Given the description of an element on the screen output the (x, y) to click on. 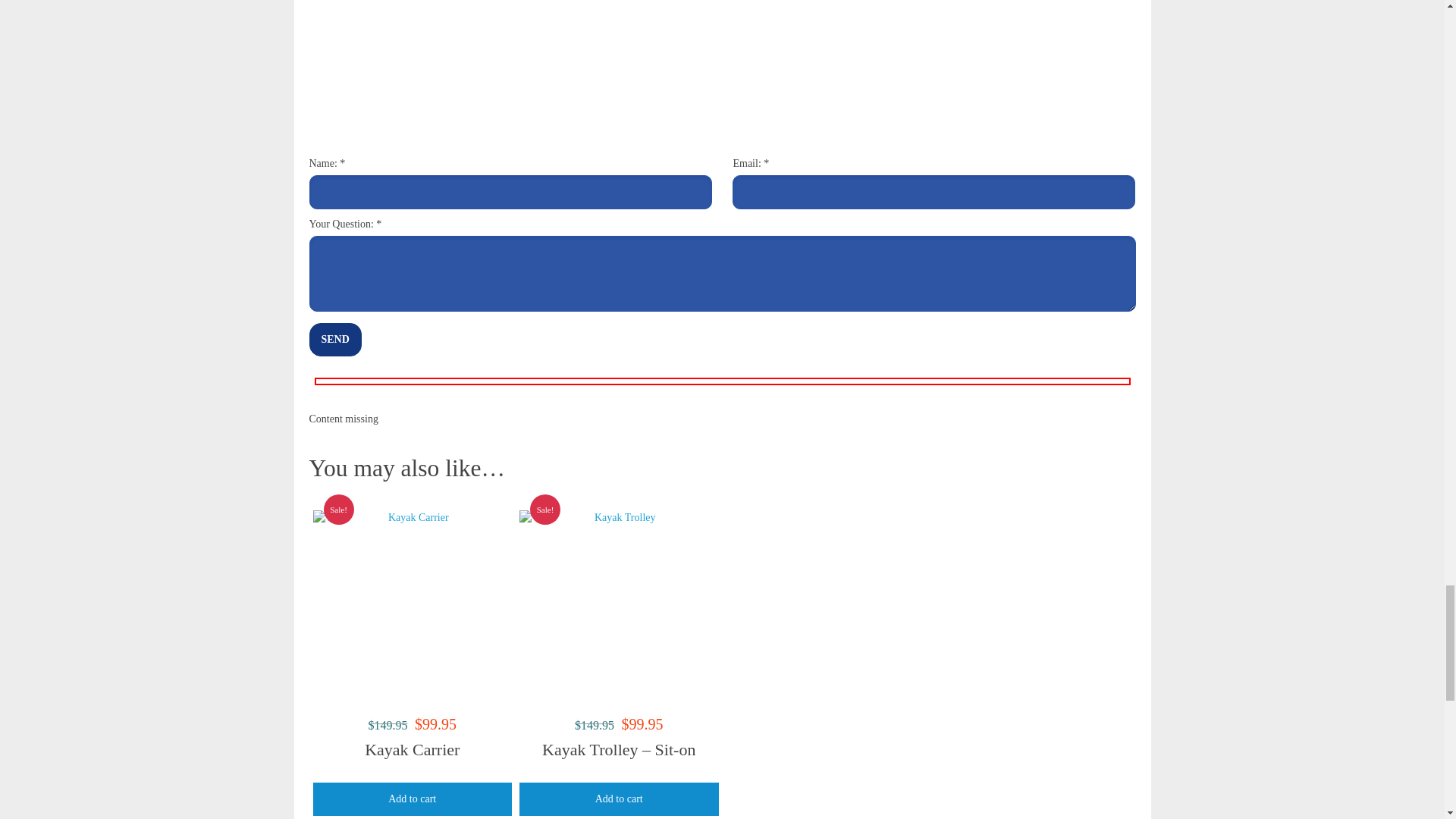
Send (334, 339)
